Given the description of an element on the screen output the (x, y) to click on. 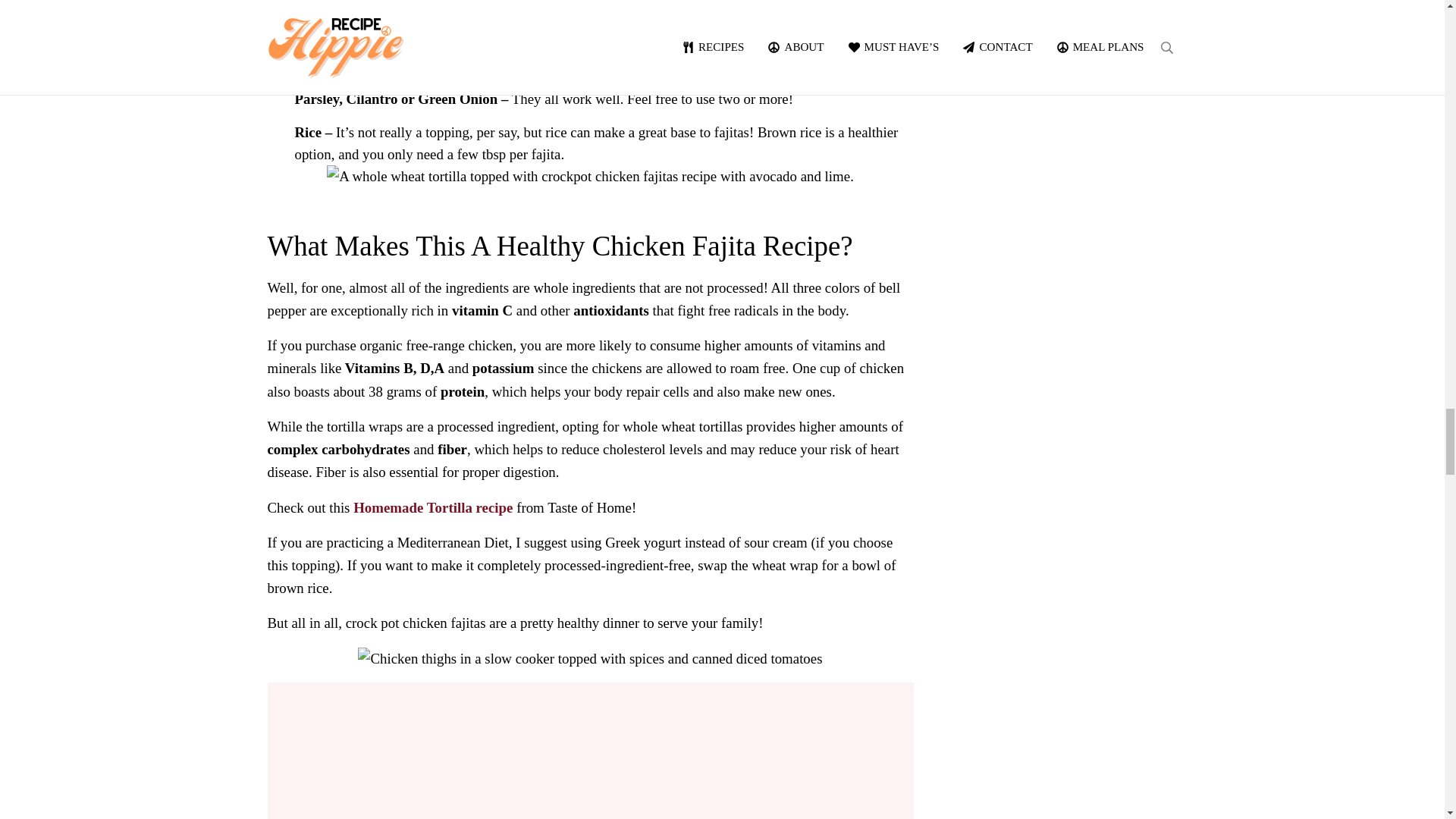
Homemade Tortilla recipe (434, 507)
